Given the description of an element on the screen output the (x, y) to click on. 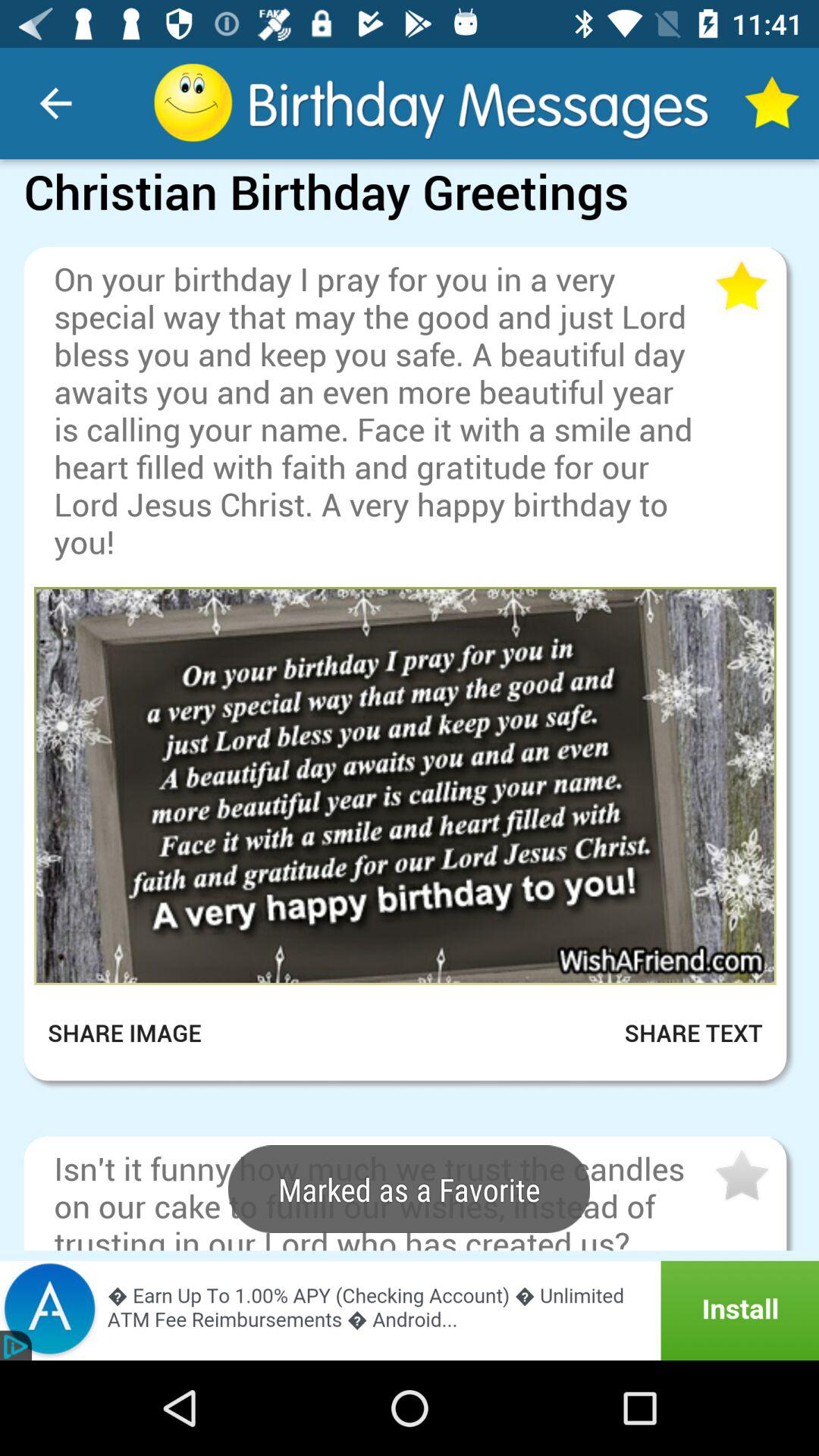
launch the item above isn t it (409, 1124)
